Given the description of an element on the screen output the (x, y) to click on. 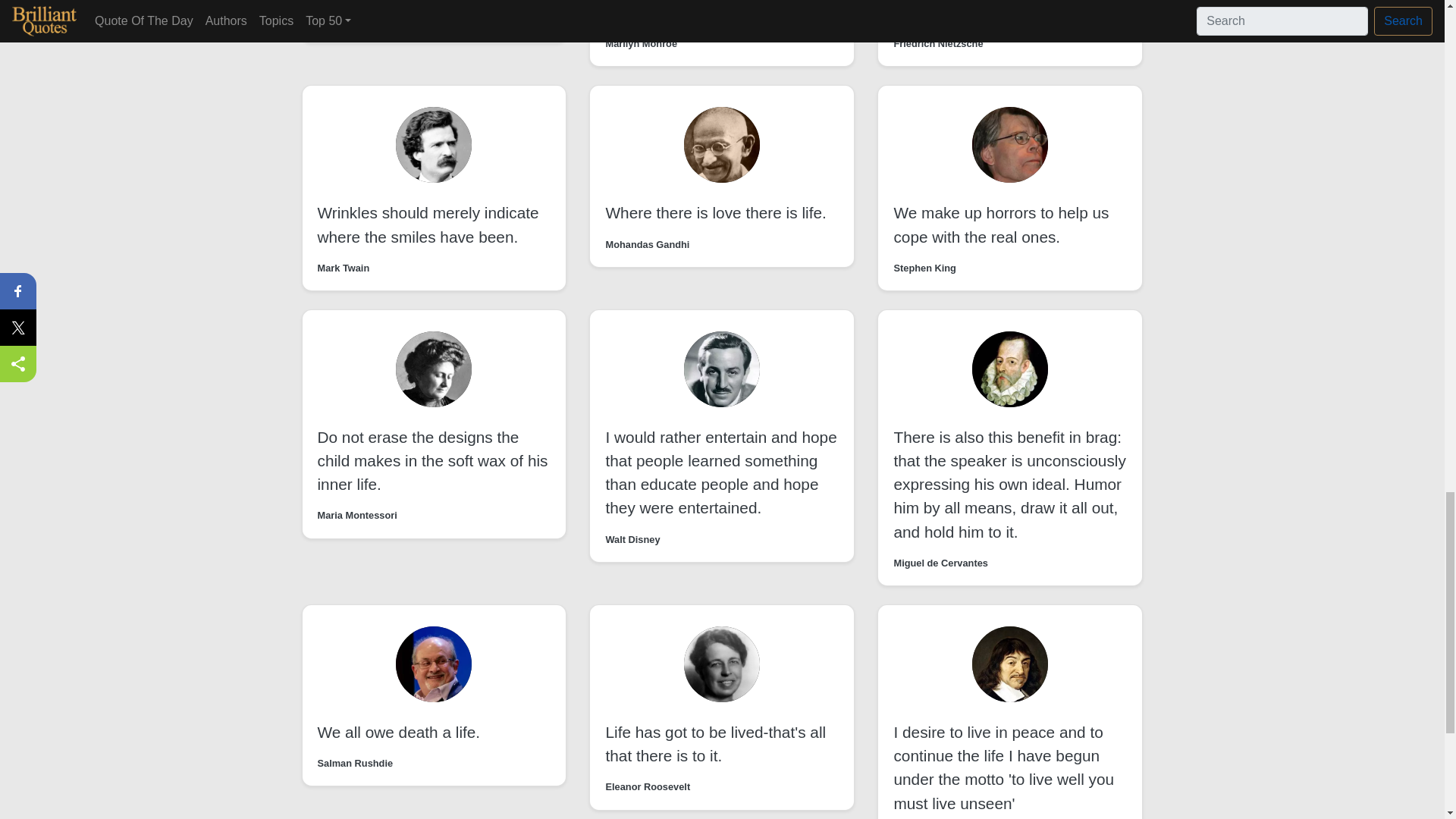
Marilyn Monroe (352, 20)
